Given the description of an element on the screen output the (x, y) to click on. 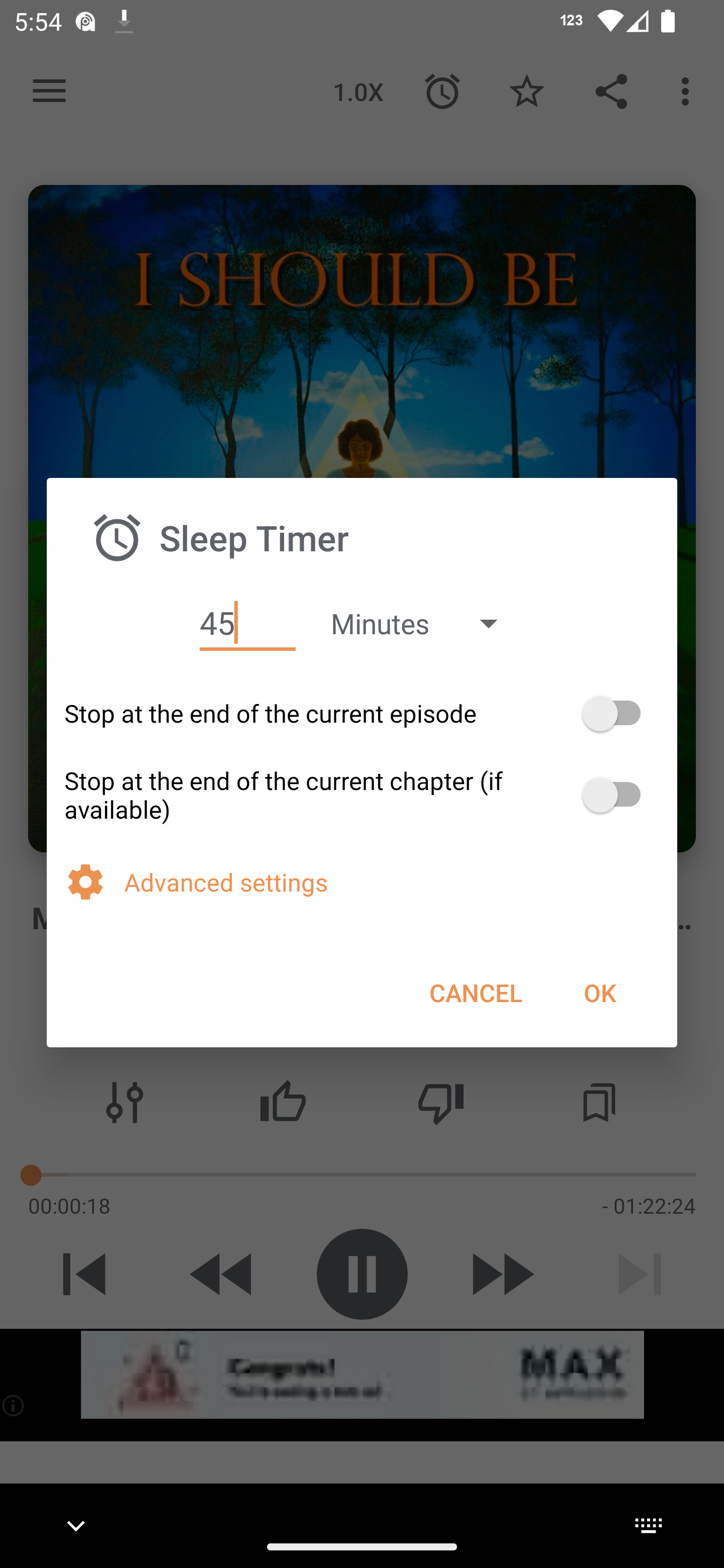
45 (247, 623)
Minutes (423, 623)
Stop at the end of the current episode (361, 712)
Advanced settings (391, 881)
CANCEL (475, 992)
OK (599, 992)
